Given the description of an element on the screen output the (x, y) to click on. 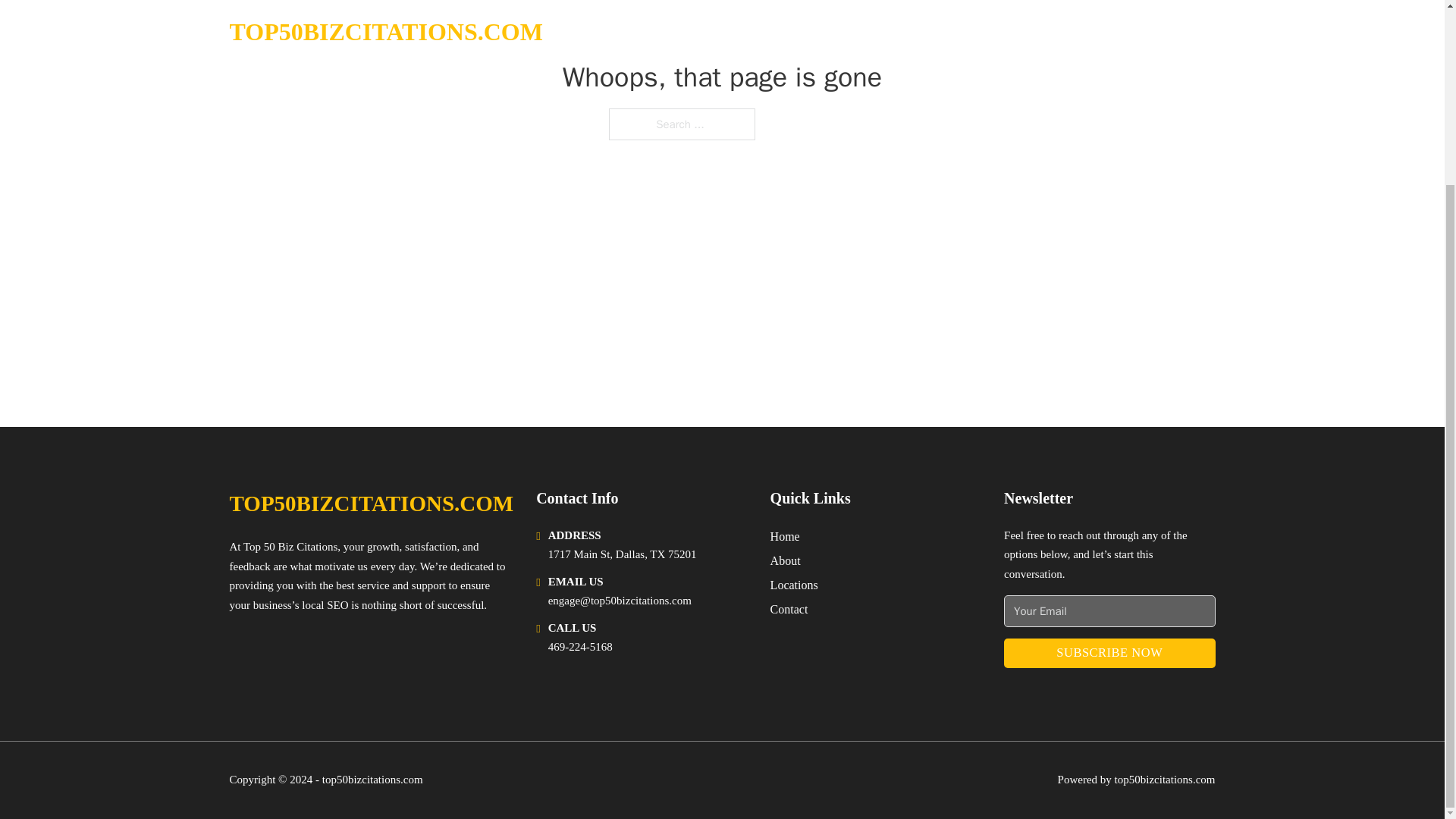
SUBSCRIBE NOW (1109, 653)
Contact (789, 608)
Home (784, 536)
TOP50BIZCITATIONS.COM (370, 503)
About (785, 560)
469-224-5168 (580, 646)
Locations (794, 584)
